Given the description of an element on the screen output the (x, y) to click on. 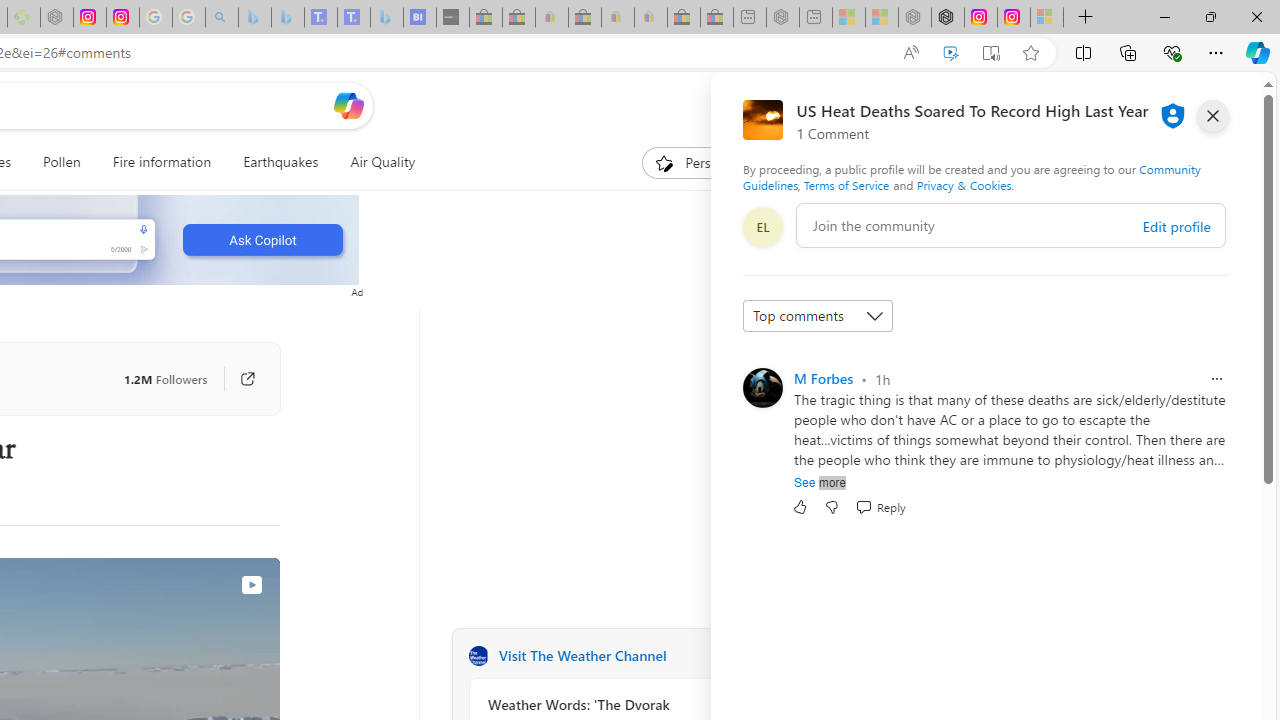
Earthquakes (280, 162)
comment-box (1011, 225)
Privacy & Cookies (964, 184)
New tab - Sleeping (815, 17)
Go to publisher's site (247, 378)
To get missing image descriptions, open the context menu. (664, 162)
close (1212, 115)
Edit profile (1175, 226)
Fire information (162, 162)
Like (799, 507)
